Given the description of an element on the screen output the (x, y) to click on. 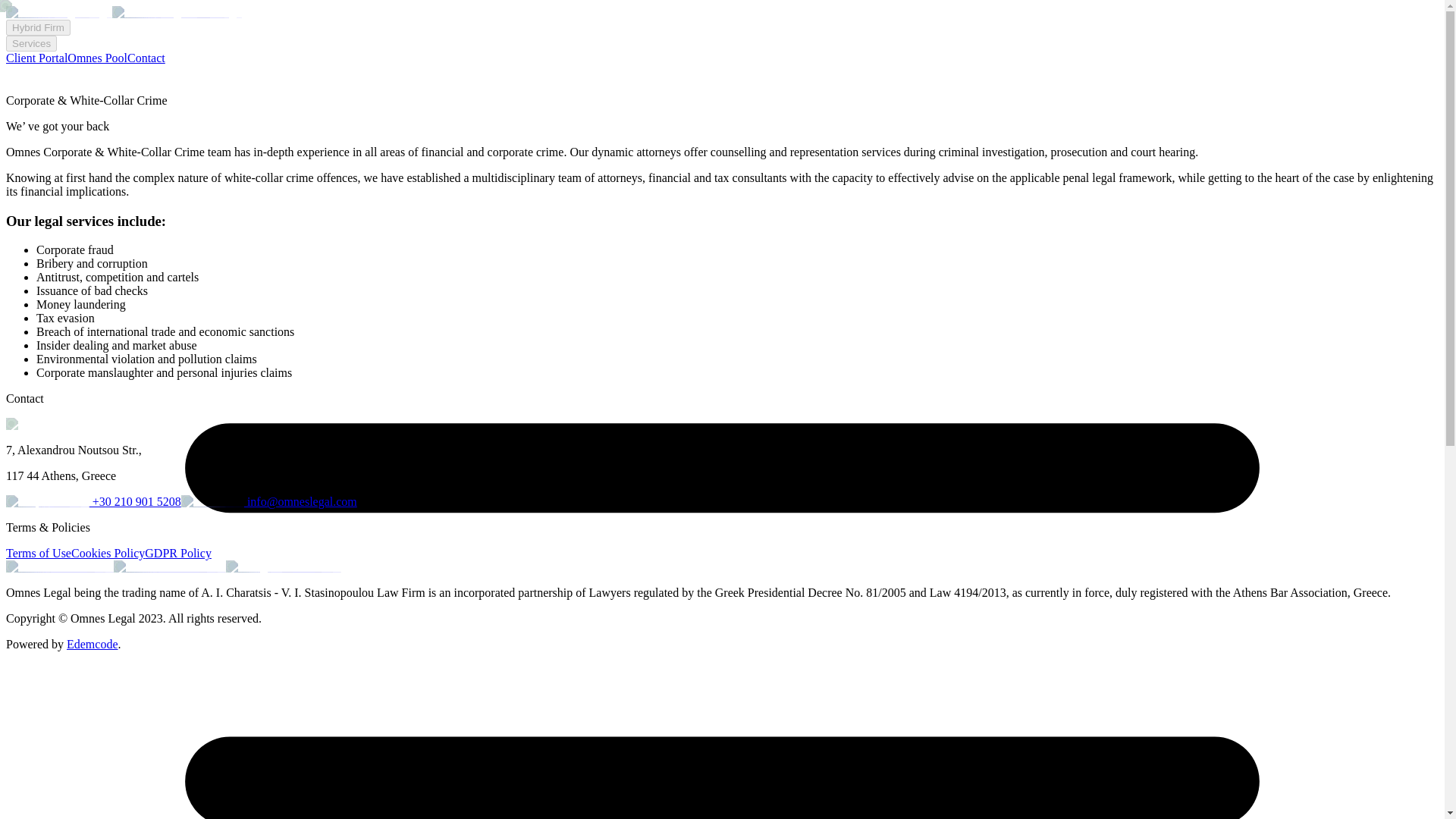
Client Portal (35, 57)
Hybrid Firm (37, 27)
Terms of Use (38, 553)
GDPR Policy (177, 553)
Omnes Pool (97, 57)
Services (30, 43)
Contact (146, 57)
Edemcode (91, 644)
Cookies Policy (107, 553)
